Given the description of an element on the screen output the (x, y) to click on. 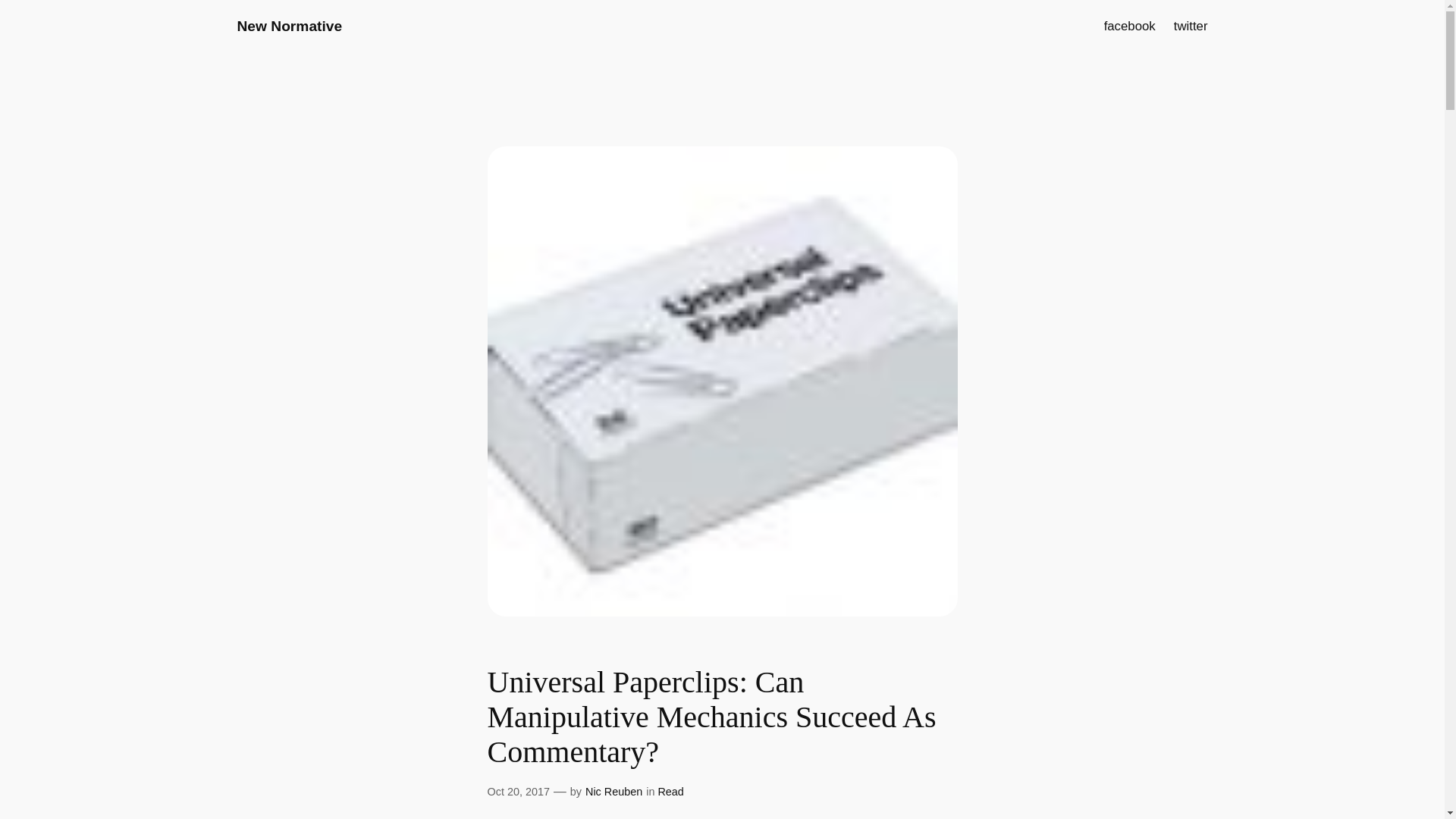
Nic Reuben (613, 791)
New Normative (288, 26)
twitter (1190, 26)
facebook (1129, 26)
Oct 20, 2017 (517, 791)
Read (670, 791)
